Given the description of an element on the screen output the (x, y) to click on. 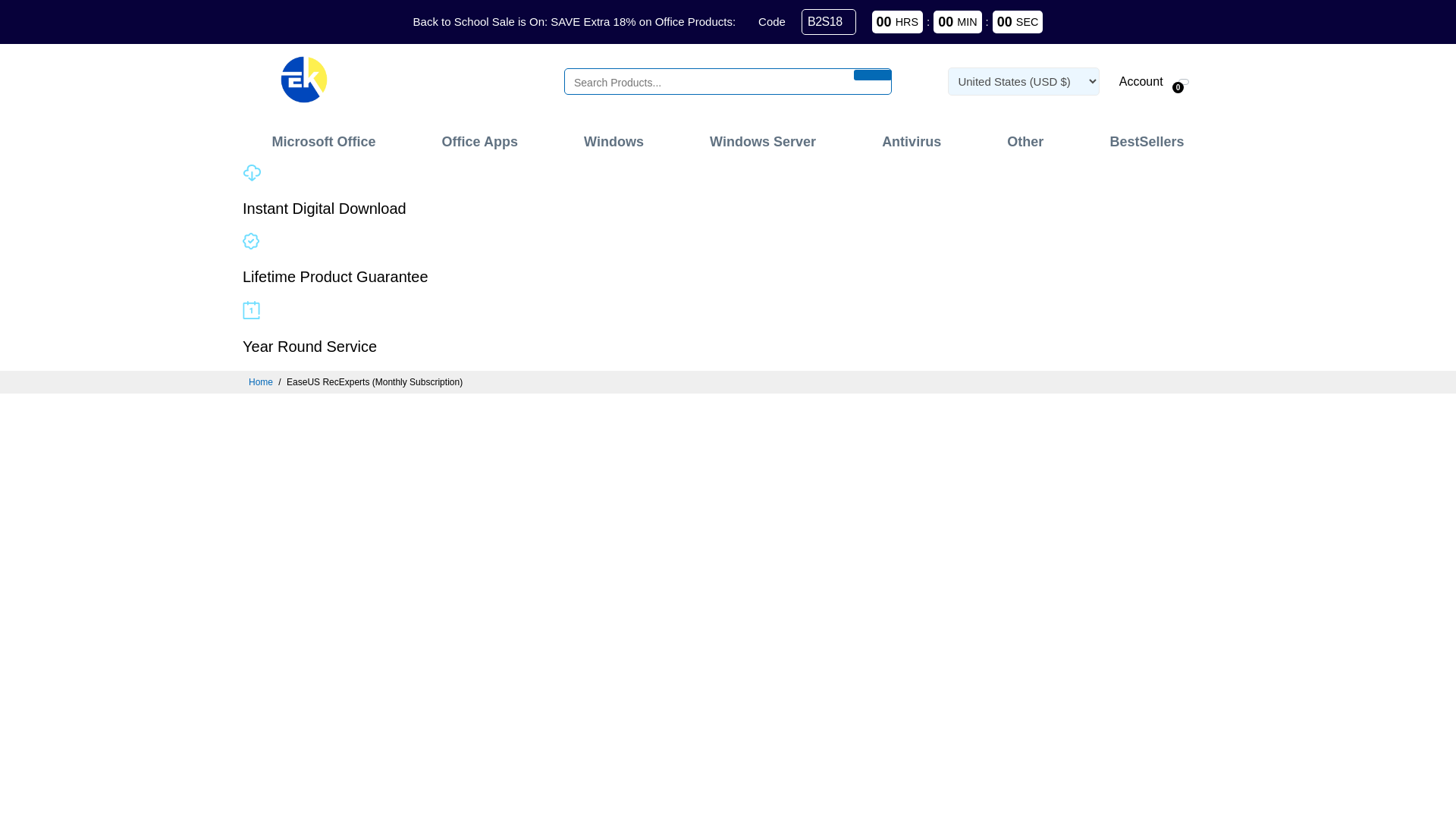
Office Apps (479, 141)
Account (1139, 80)
Home (260, 381)
Microsoft Office (323, 141)
